Given the description of an element on the screen output the (x, y) to click on. 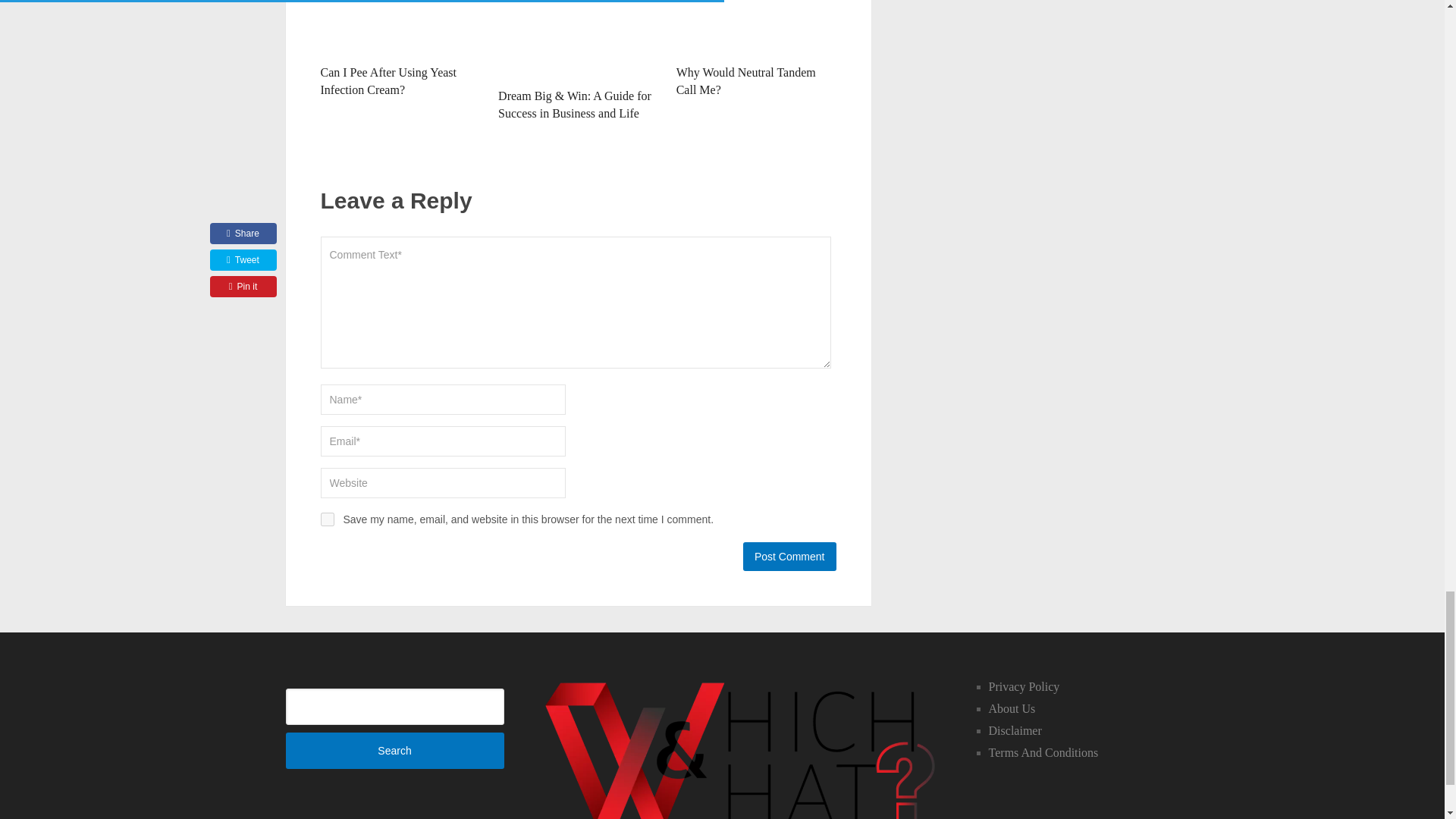
Can I Pee After Using Yeast Infection Cream? (400, 28)
Can I Pee After Using Yeast Infection Cream? (388, 80)
yes (326, 519)
Can I Pee After Using Yeast Infection Cream? (388, 80)
Why Would Neutral Tandem Call Me? (756, 28)
Why Would Neutral Tandem Call Me? (746, 80)
Why Would Neutral Tandem Call Me? (746, 80)
Post Comment (788, 556)
